Given the description of an element on the screen output the (x, y) to click on. 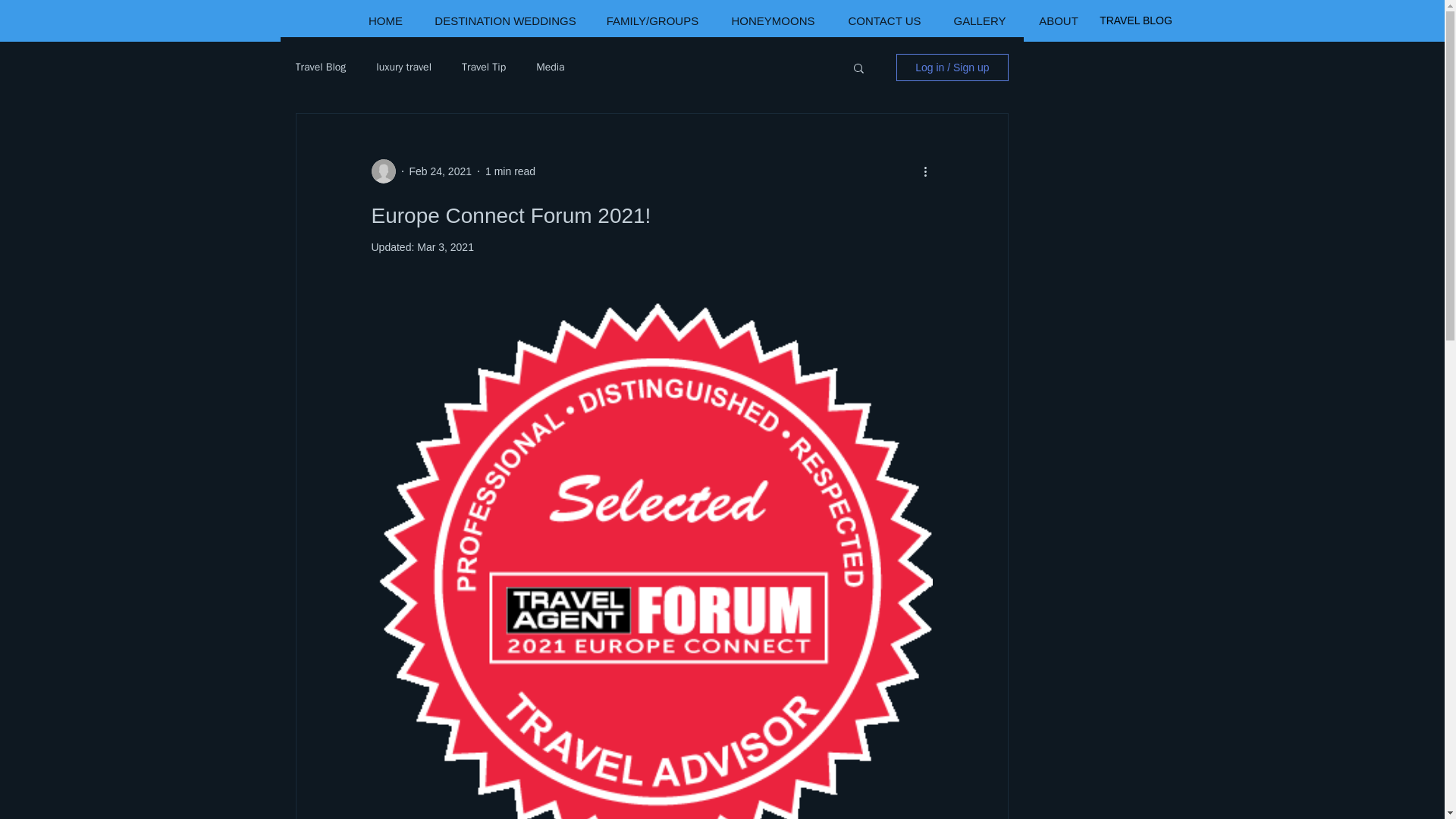
ABOUT (1058, 20)
Travel Tip (483, 67)
Media (549, 67)
HOME (386, 20)
Travel Blog (320, 67)
CONTACT US (883, 20)
Feb 24, 2021 (440, 171)
GALLERY (979, 20)
Mar 3, 2021 (445, 246)
HONEYMOONS (772, 20)
luxury travel (402, 67)
TRAVEL BLOG (1135, 20)
1 min read (509, 171)
DESTINATION WEDDINGS (505, 20)
